Given the description of an element on the screen output the (x, y) to click on. 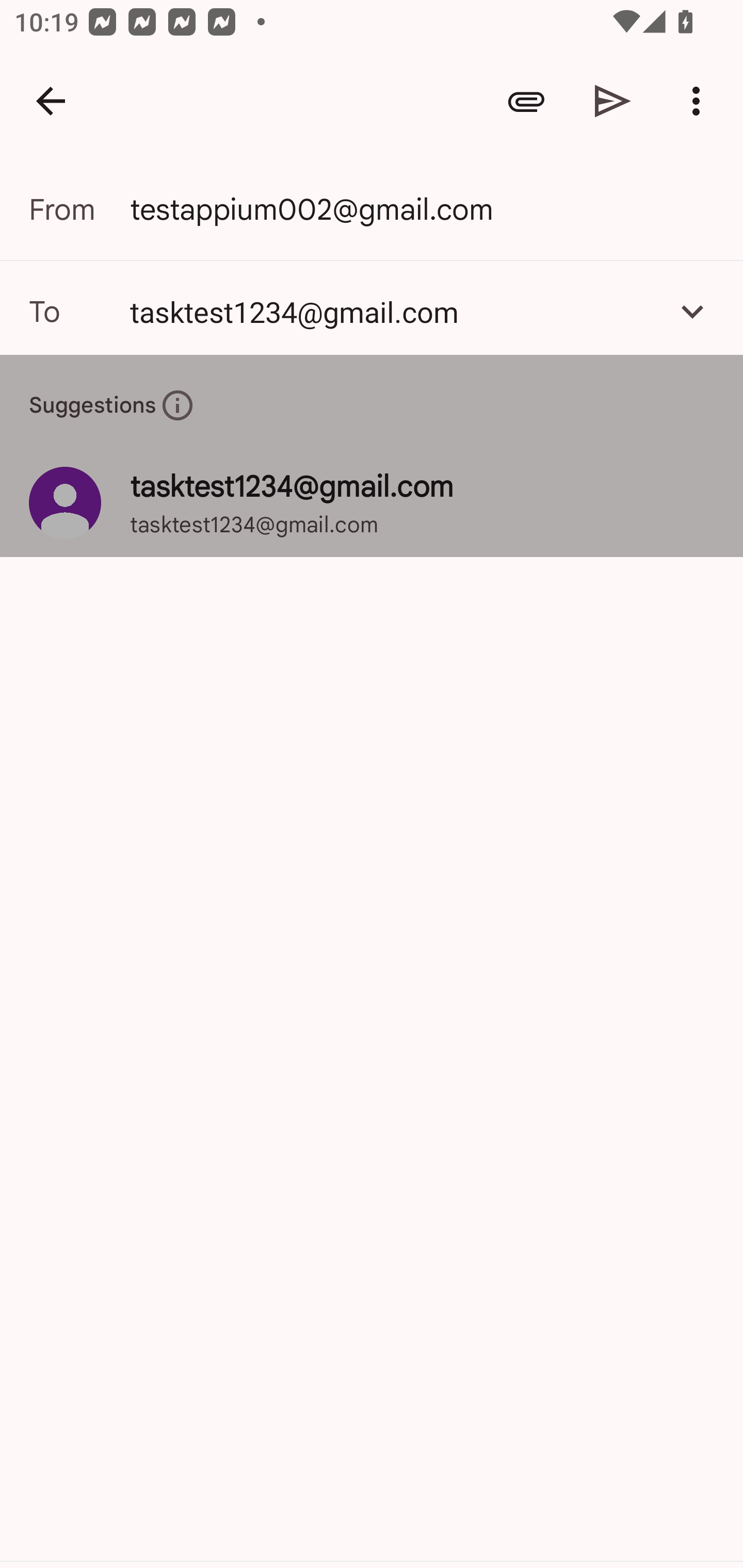
Navigate up (50, 101)
Attach file (525, 101)
Send (612, 101)
More options (699, 101)
From (79, 209)
Add Cc/Bcc (692, 311)
tasktest1234@gmail.com (371, 311)
tasktest1234@gmail.com (393, 311)
